Given the description of an element on the screen output the (x, y) to click on. 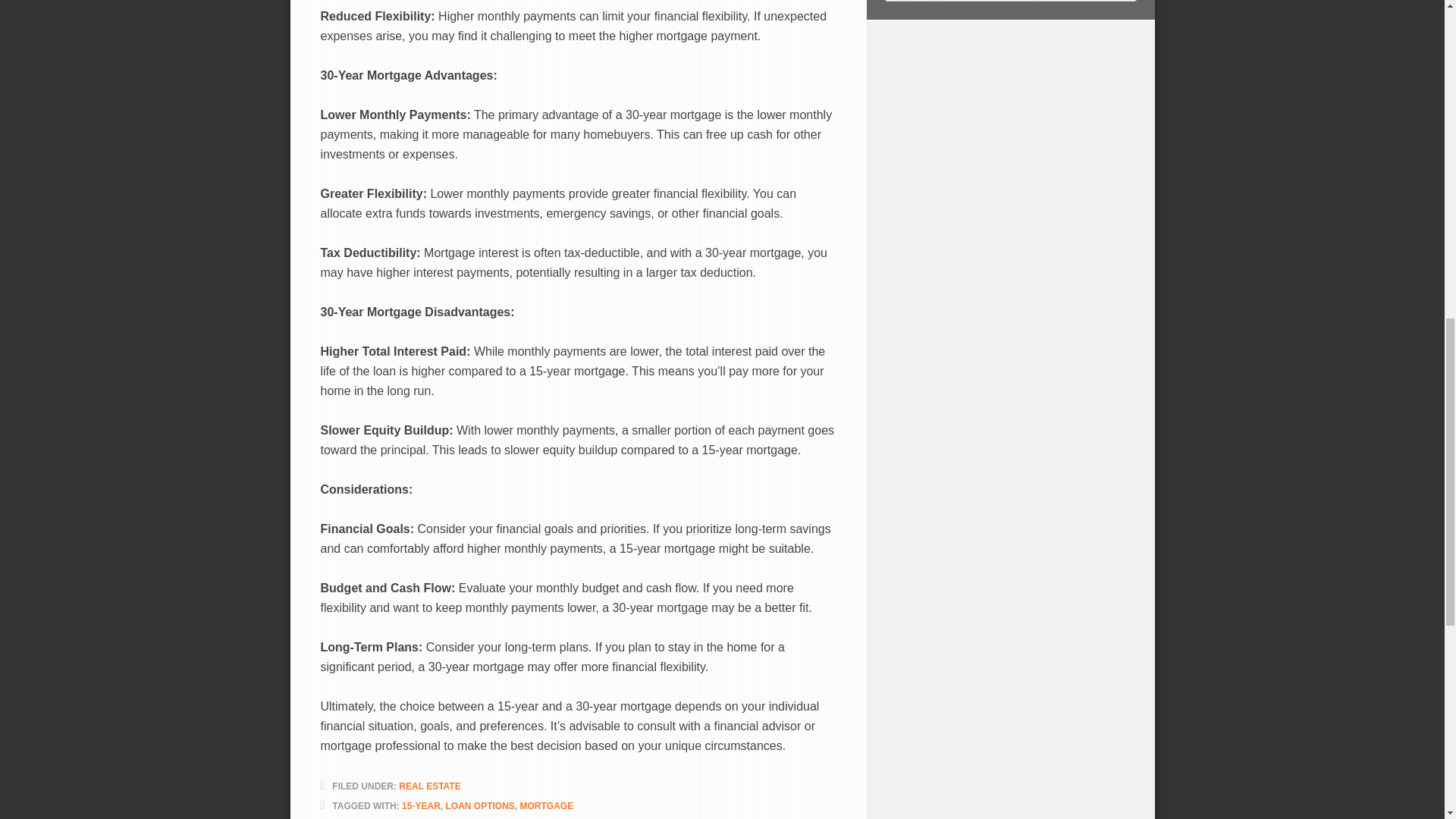
15-YEAR (421, 805)
MORTGAGE (546, 805)
REAL ESTATE (429, 786)
LOAN OPTIONS (479, 805)
